Given the description of an element on the screen output the (x, y) to click on. 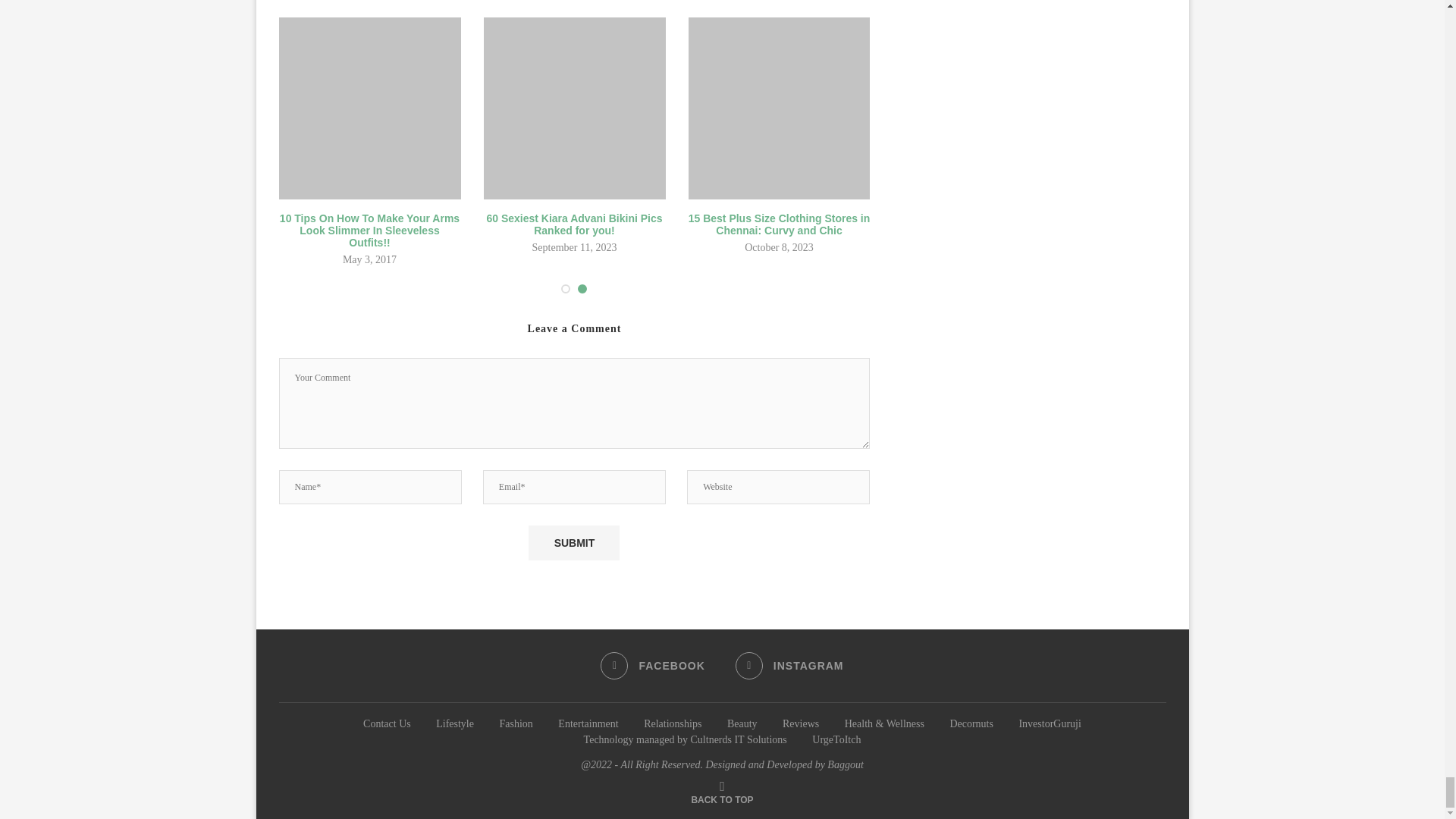
Submit (574, 542)
